Given the description of an element on the screen output the (x, y) to click on. 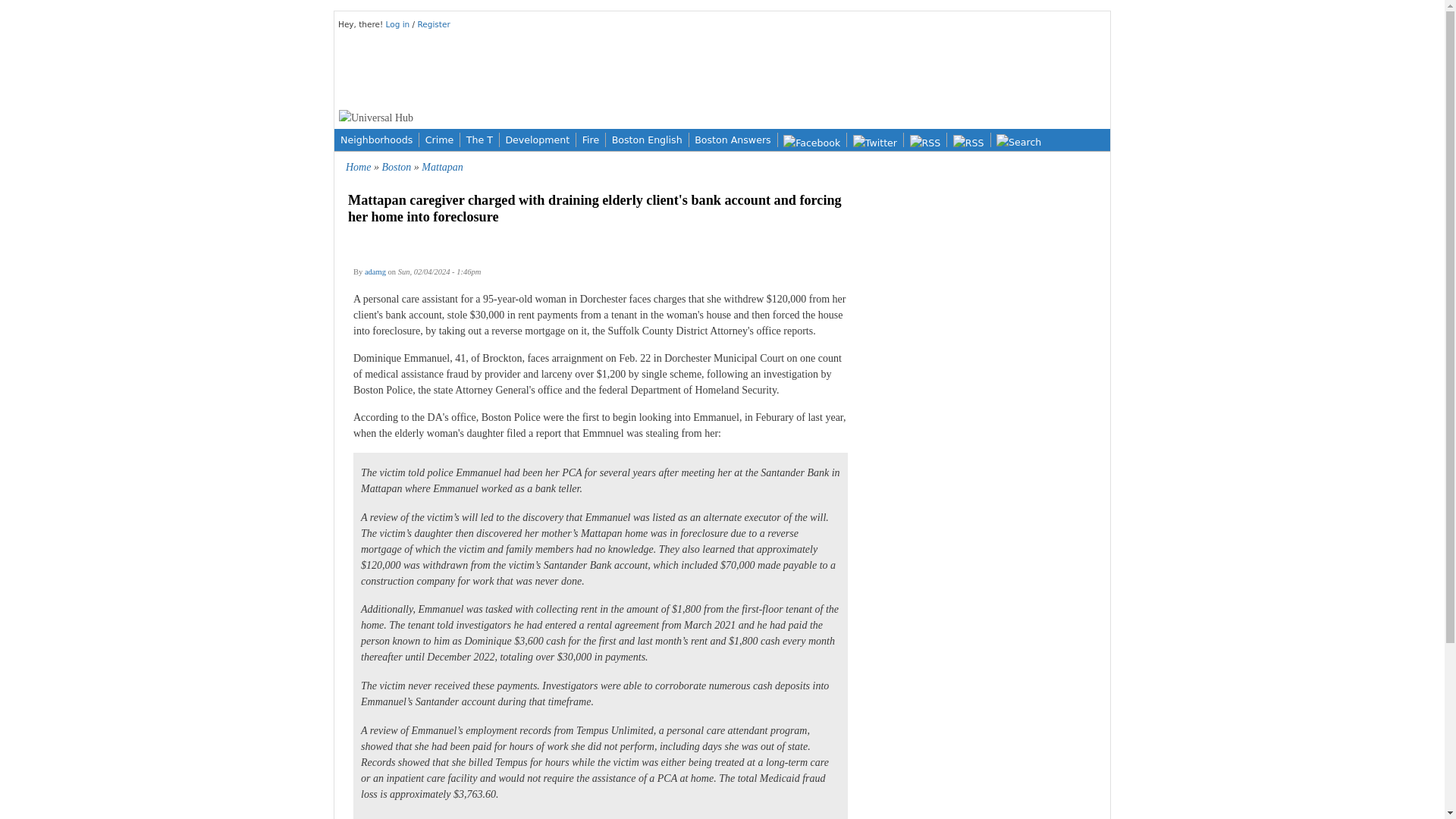
Home (358, 166)
Neighborhoods (375, 139)
Crime (439, 139)
Universal Hub RSS feed (968, 139)
adamg (375, 271)
Boston English (646, 139)
Wicked Good Guide to Boston English (646, 139)
Boston Answers (732, 139)
Log in (398, 23)
Fire (590, 139)
